Given the description of an element on the screen output the (x, y) to click on. 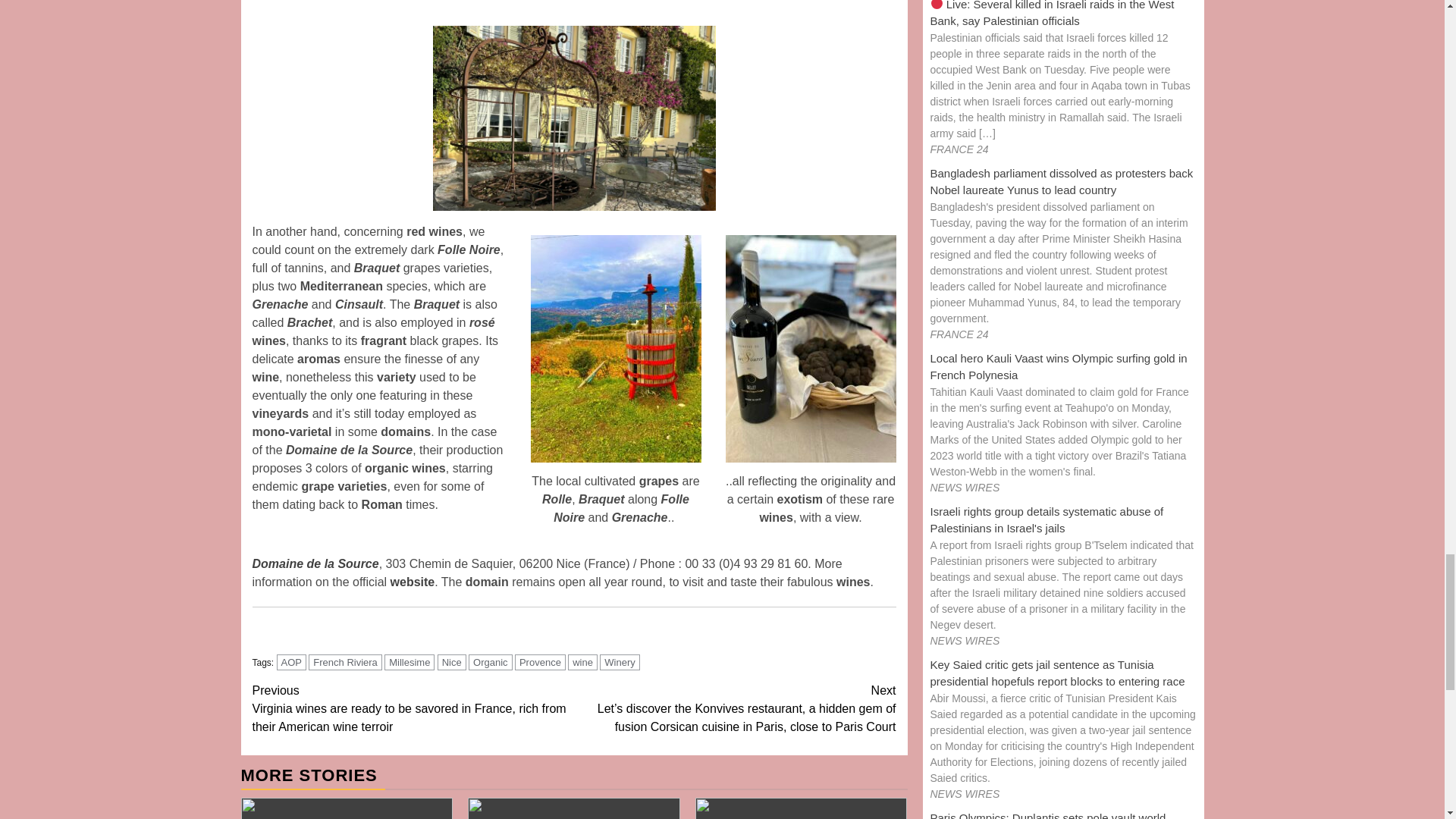
AOP (290, 662)
Domaine de la Source (314, 563)
website (412, 581)
French Riviera (344, 662)
